Given the description of an element on the screen output the (x, y) to click on. 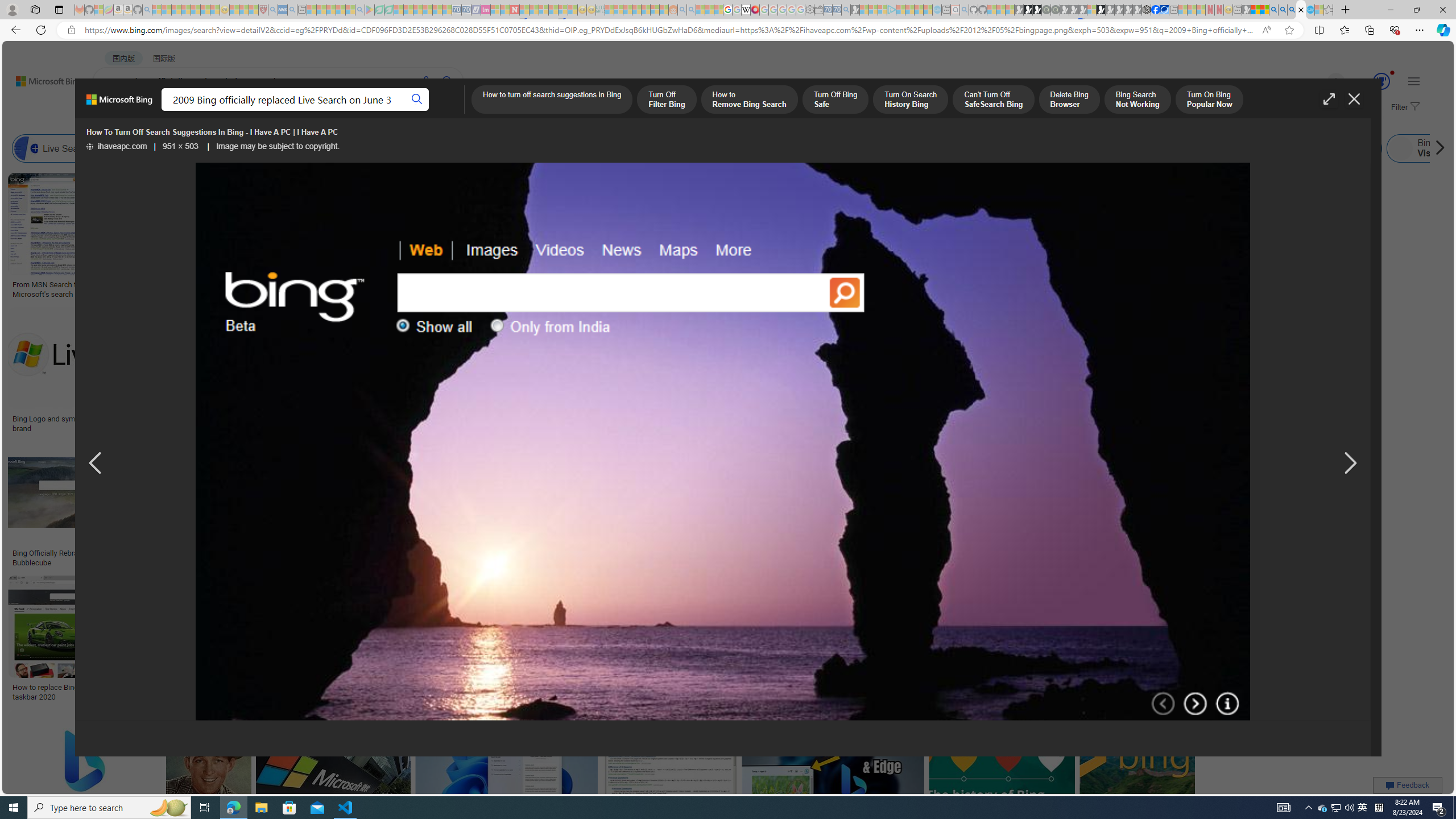
WEB (114, 111)
Bing Ai Search Engine Powered (472, 148)
Bing (2009) (RARE/FAKE) - YouTube (942, 552)
Microsoft Bing Search | EnfewSave (1162, 371)
AirNow.gov (1163, 9)
How to turn off search suggestions in Bing (550, 100)
